Given the description of an element on the screen output the (x, y) to click on. 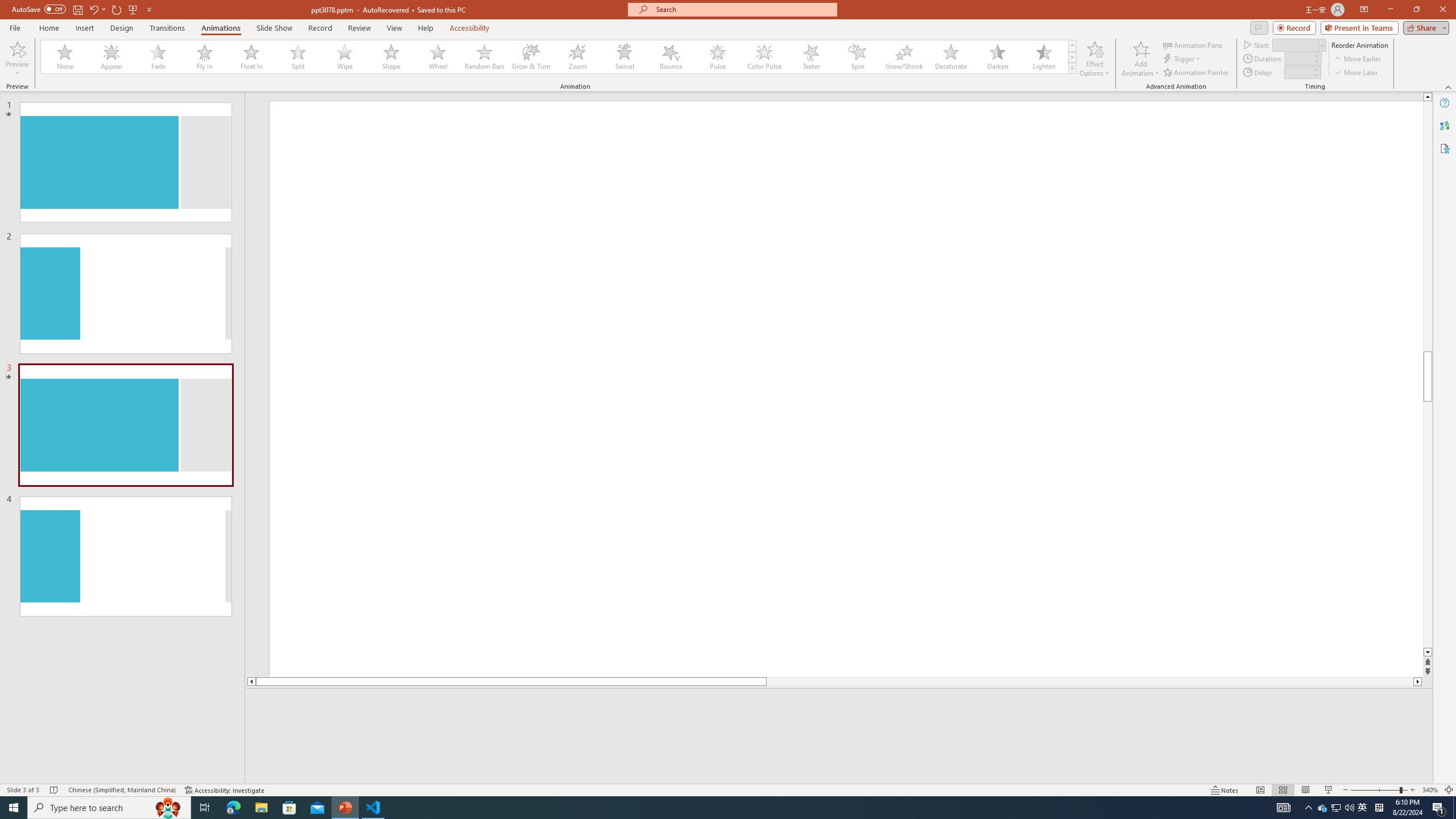
Random Bars (484, 56)
Add Animation (1141, 58)
Slide Notes (839, 705)
Appear (111, 56)
